Given the description of an element on the screen output the (x, y) to click on. 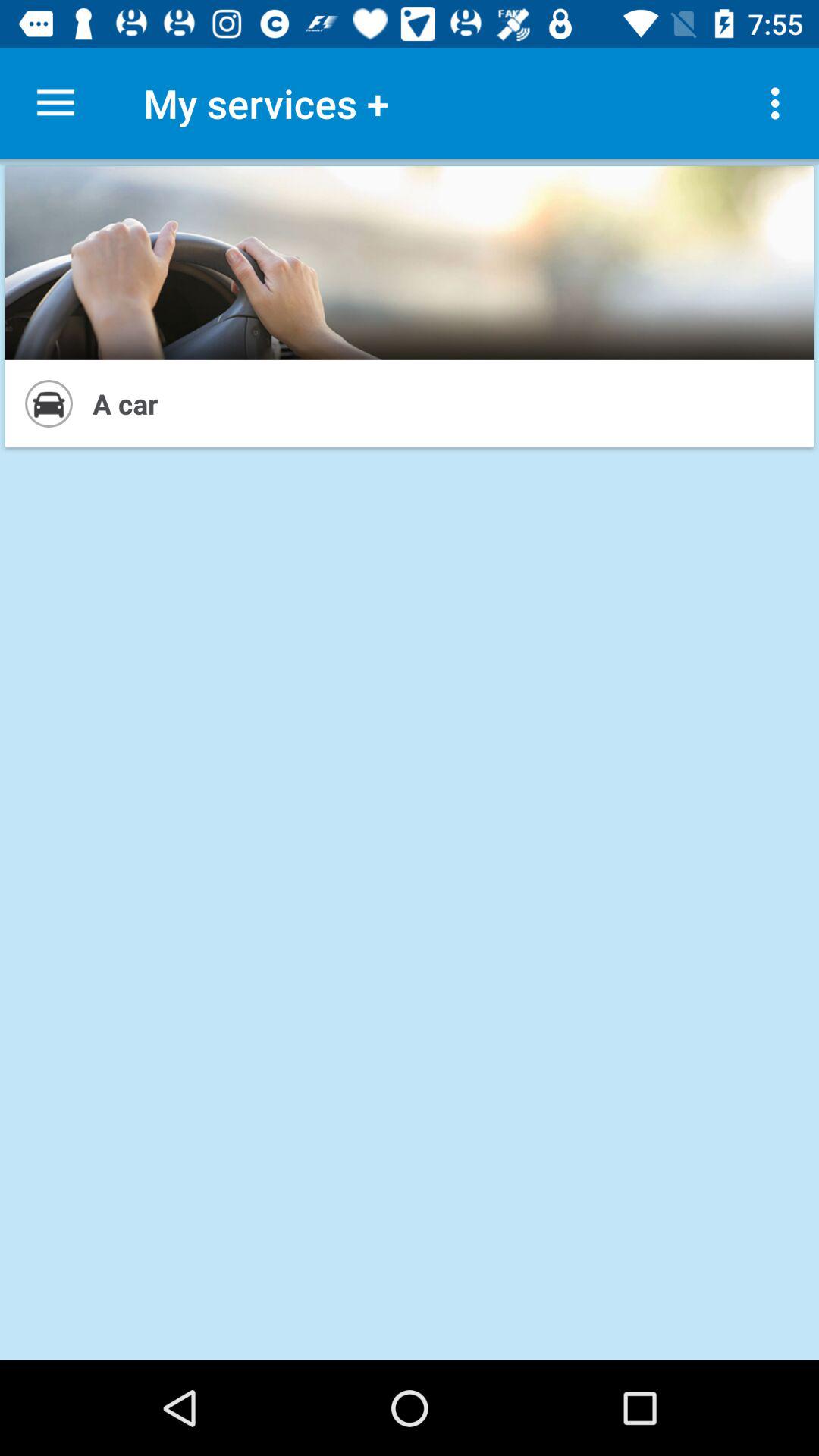
turn on the item to the left of the my services + icon (55, 103)
